Given the description of an element on the screen output the (x, y) to click on. 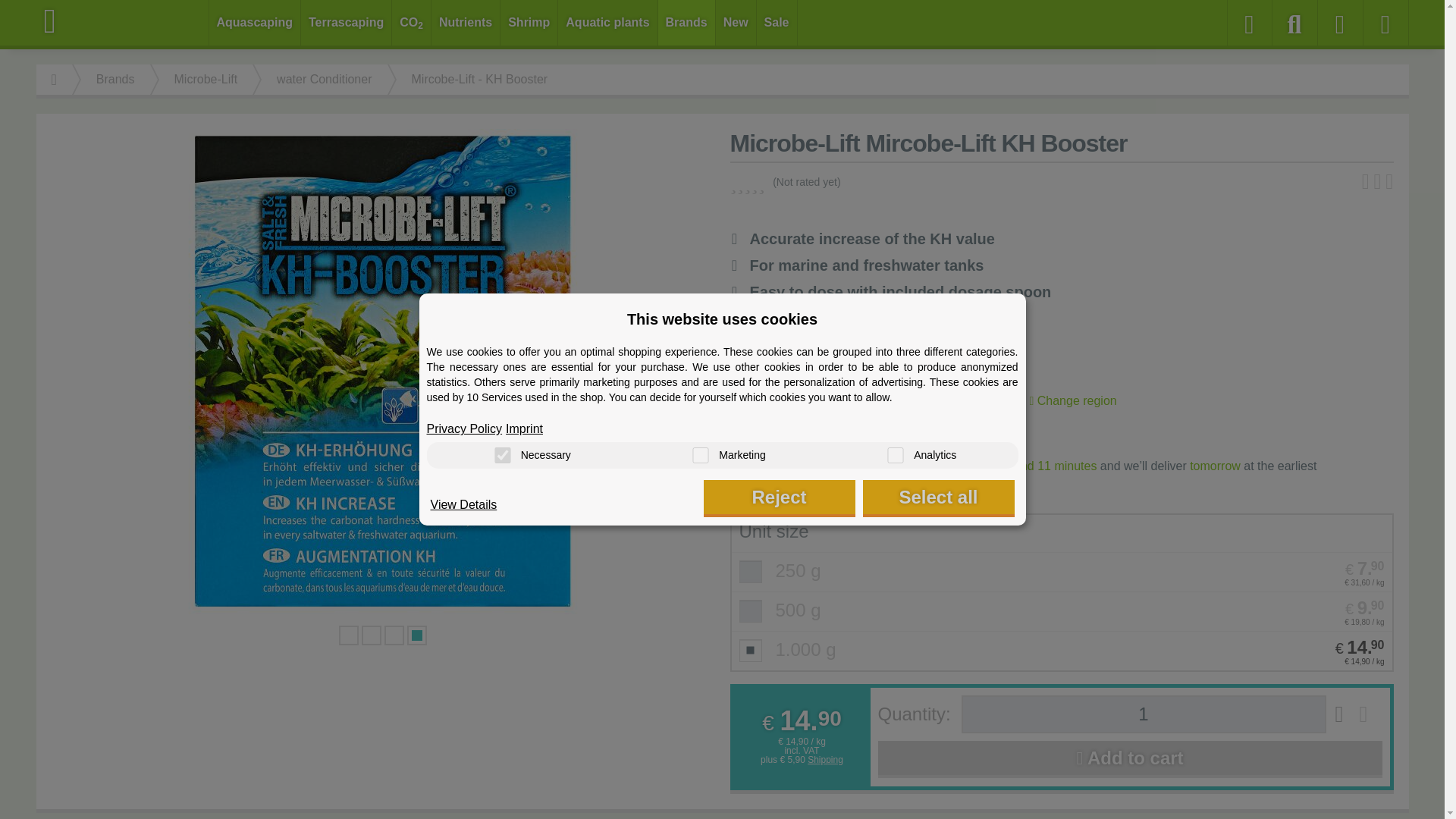
on (501, 455)
1 (1143, 714)
on (699, 455)
Aquascaping (254, 22)
on (895, 455)
Aquasabi (123, 21)
